Given the description of an element on the screen output the (x, y) to click on. 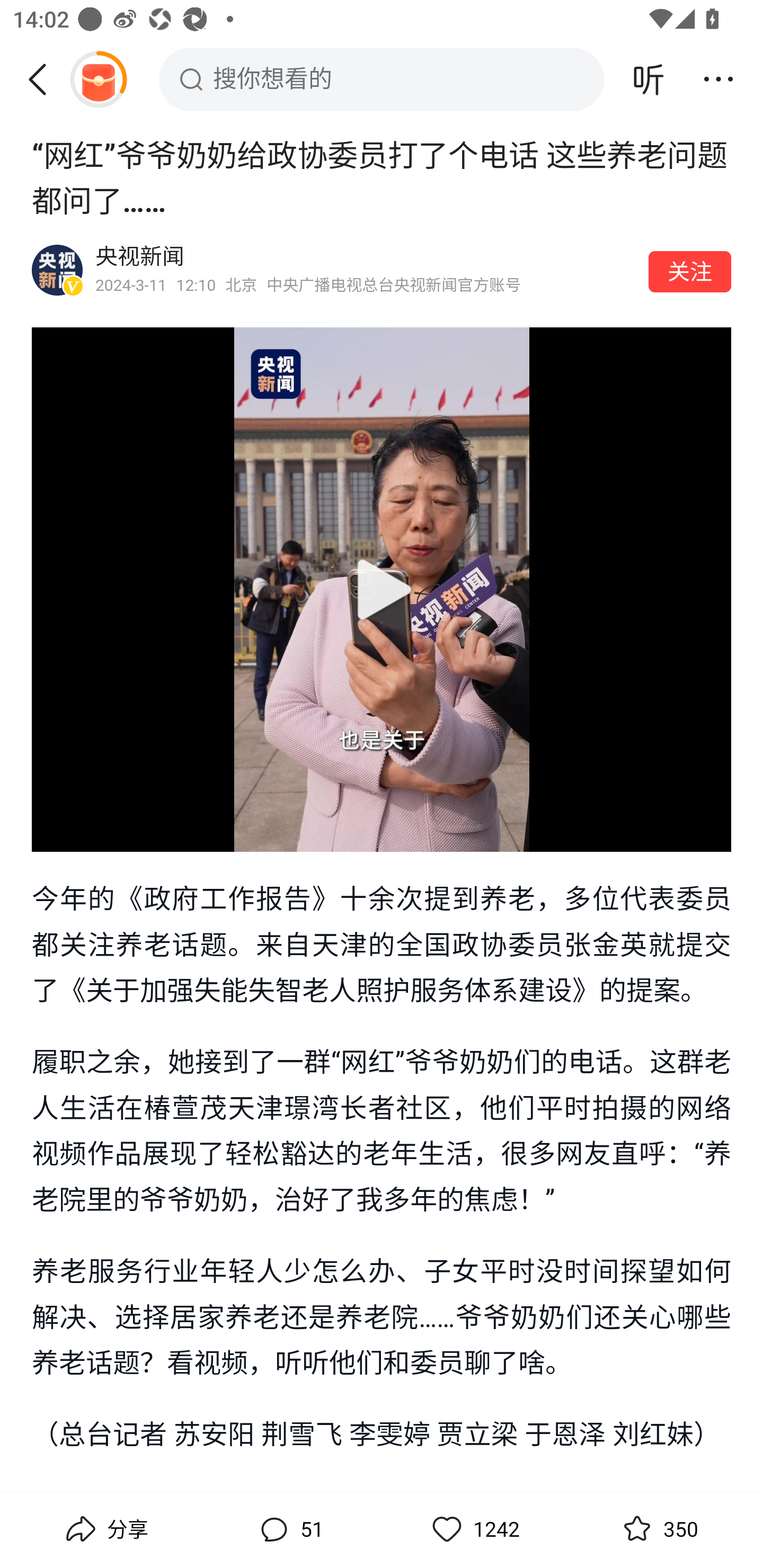
返回 (44, 78)
听头条 (648, 78)
更多操作 (718, 78)
搜你想看的 搜索框，搜你想看的 (381, 79)
阅读赚金币 (98, 79)
作者：央视新闻，简介：中央广播电视总台央视新闻官方账号，2024-3-11 12:10发布，北京 (365, 270)
关注作者 (689, 270)
播放视频 (381, 589)
播放视频 (381, 589)
分享 (104, 1529)
评论,51 51 (288, 1529)
收藏,350 350 (658, 1529)
